Given the description of an element on the screen output the (x, y) to click on. 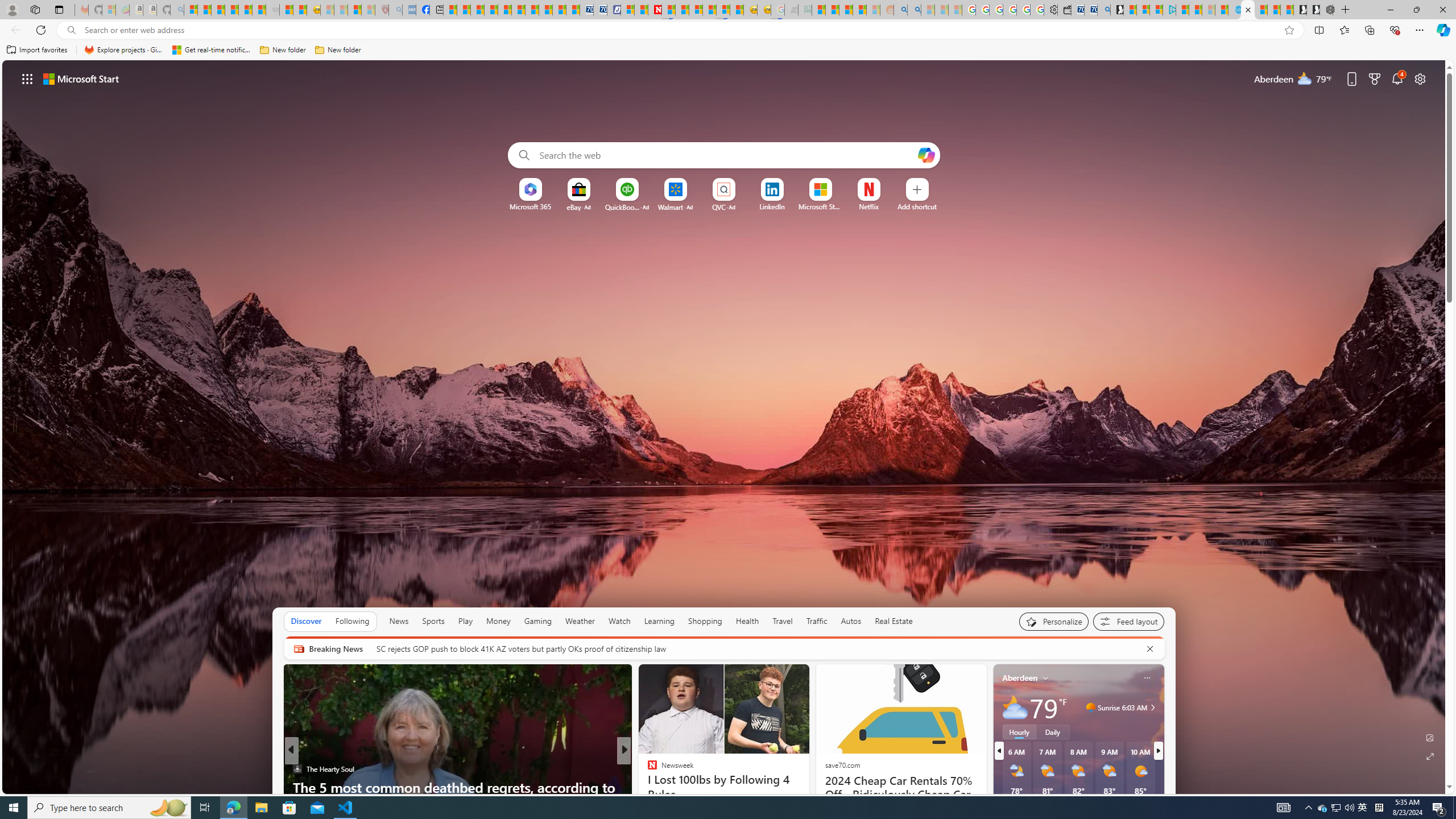
Combat Siege - Sleeping (271, 9)
LinkedIn (771, 206)
Cancel (1150, 648)
